Given the description of an element on the screen output the (x, y) to click on. 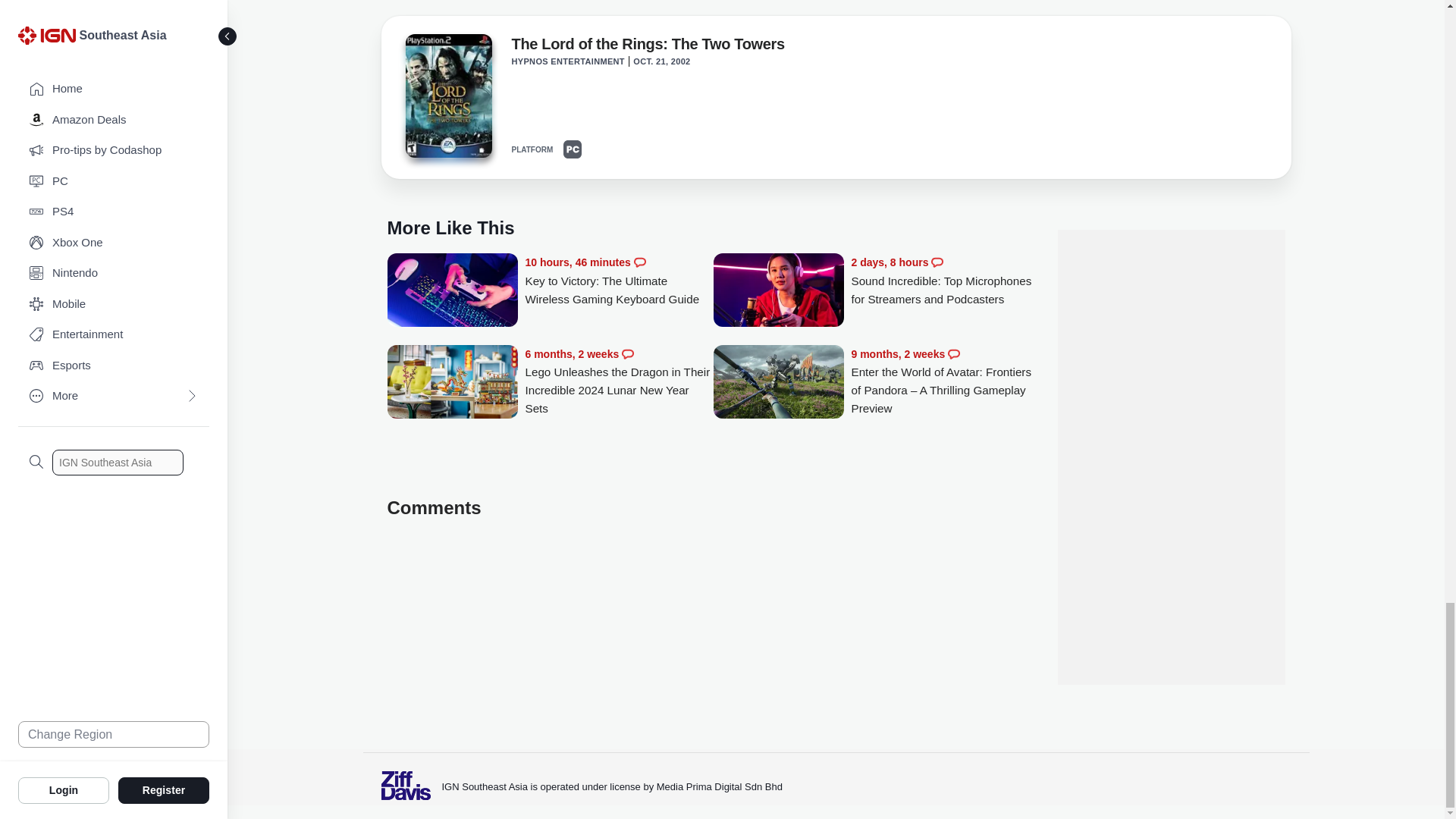
Comments (937, 262)
Key to Victory: The Ultimate Wireless Gaming Keyboard Guide (618, 280)
Key to Victory: The Ultimate Wireless Gaming Keyboard Guide (451, 291)
The Lord of the Rings: The Two Towers (647, 47)
Comments (639, 262)
PC (571, 149)
